Given the description of an element on the screen output the (x, y) to click on. 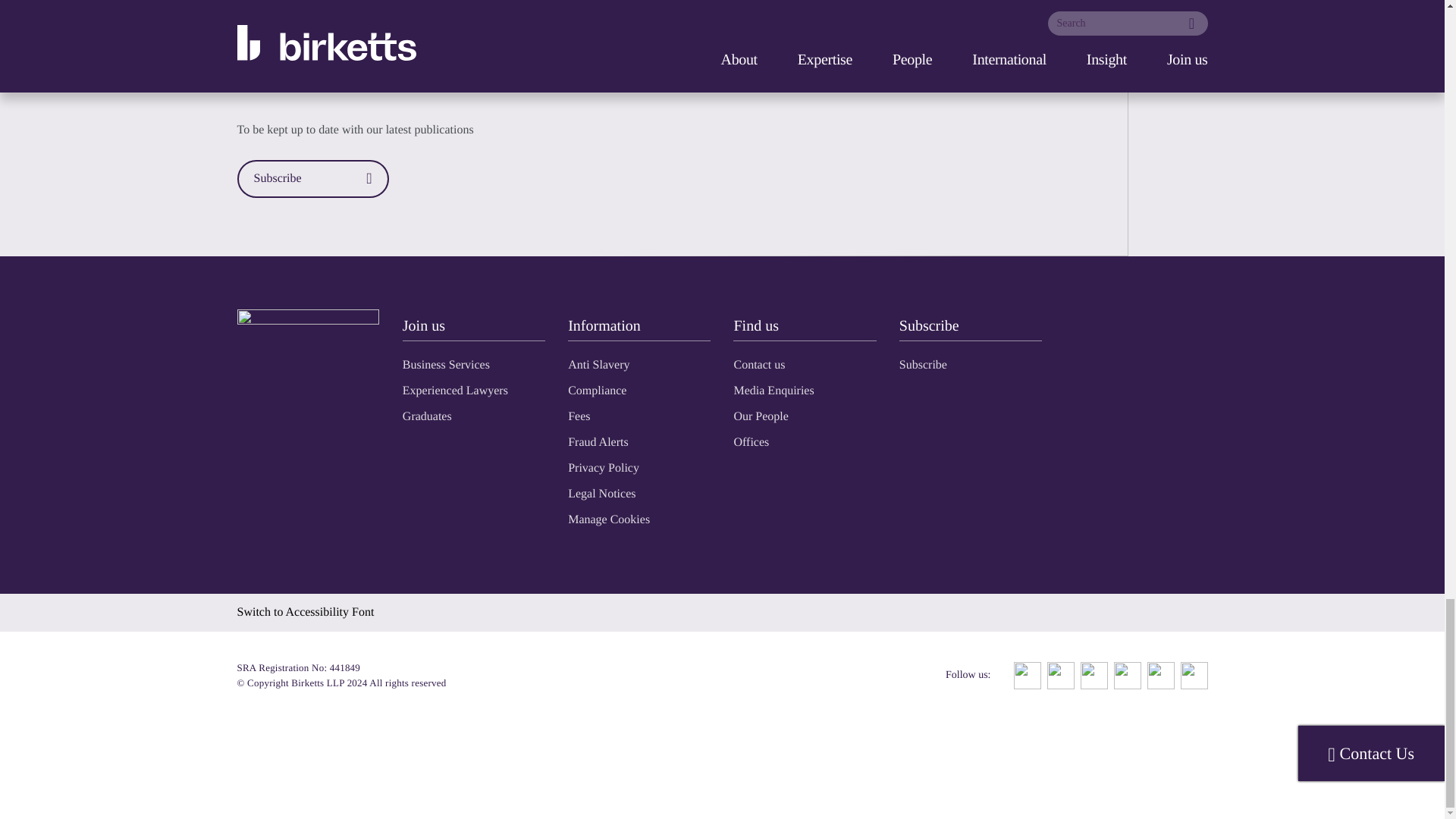
Fraud Alerts (597, 441)
Offices (750, 441)
Privacy Policy (603, 468)
Contact us (758, 364)
Compliance (596, 390)
Switch to Dyslexic friendly appearance (304, 612)
Graduates (427, 416)
Legal Notices (600, 493)
Experienced Lawyers (455, 390)
Subscribe (923, 364)
